Given the description of an element on the screen output the (x, y) to click on. 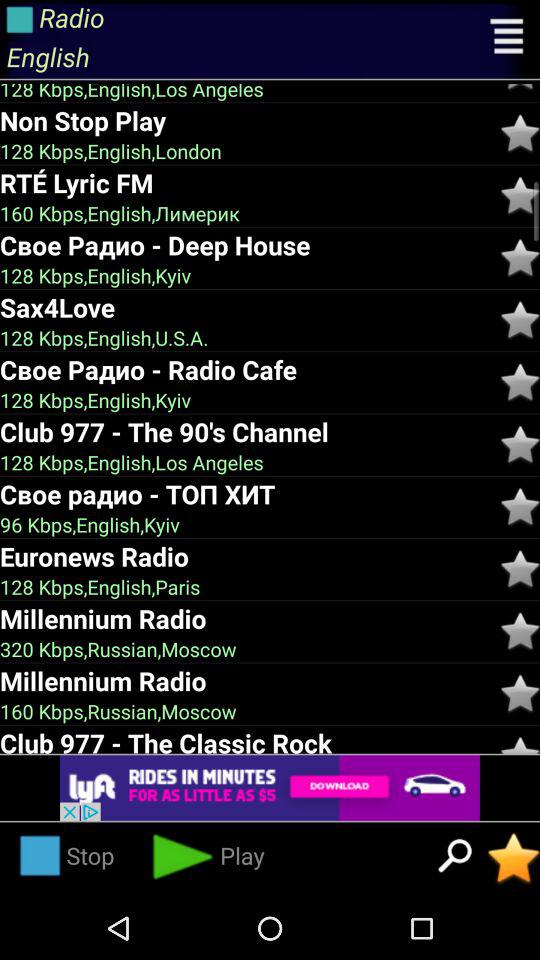
advertisement area (270, 787)
